Given the description of an element on the screen output the (x, y) to click on. 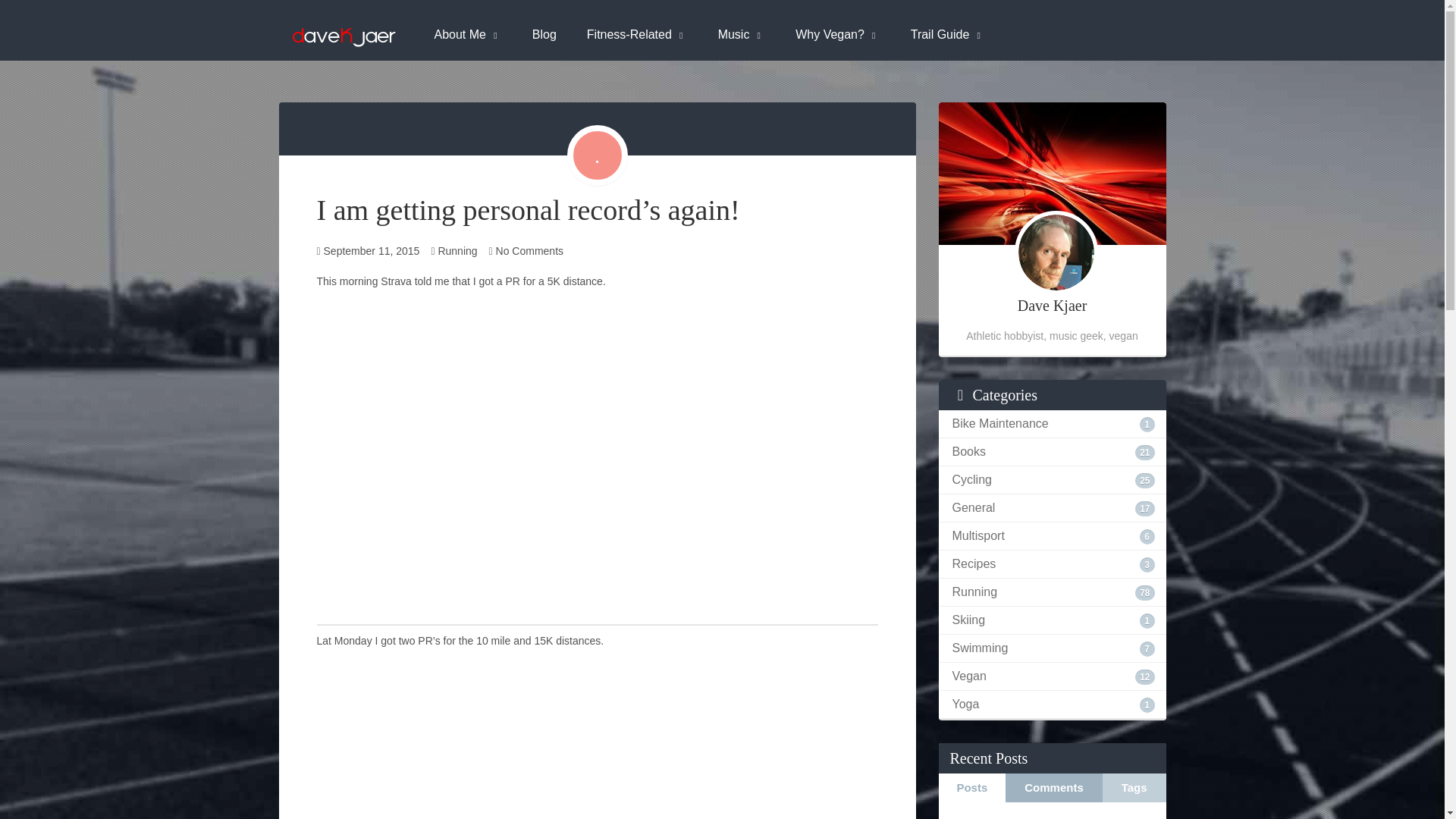
About Me (467, 33)
Why Vegan? (837, 33)
View all posts in Running (457, 250)
Fitness-Related (637, 33)
Dave Kjaer (342, 33)
Trail Guide (947, 33)
Blog (544, 32)
Music (741, 33)
